Given the description of an element on the screen output the (x, y) to click on. 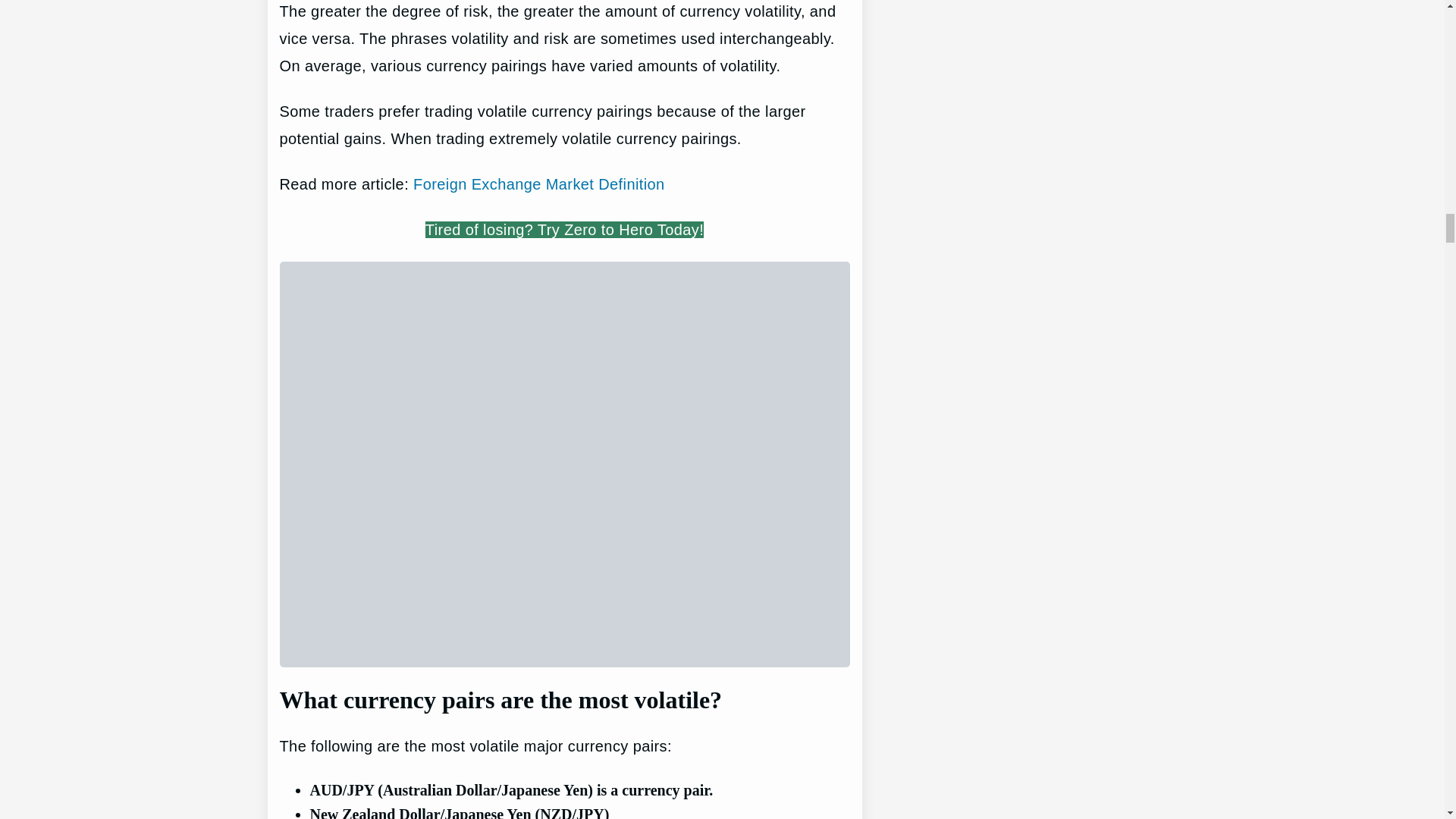
Tired of losing? Try Zero to Hero Today! (564, 229)
Foreign Exchange Market Definition (539, 184)
